Given the description of an element on the screen output the (x, y) to click on. 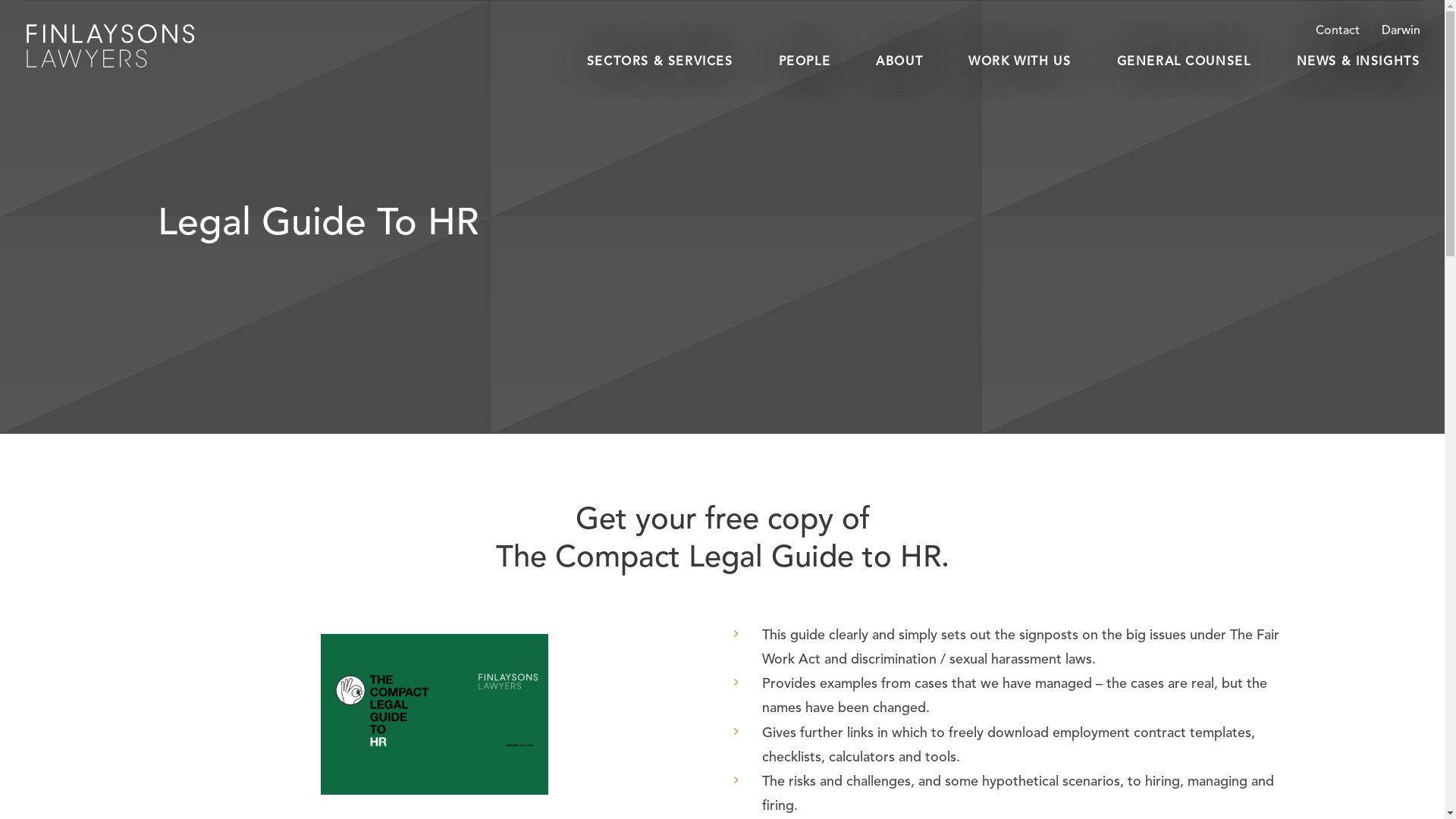
Skip to content Element type: text (722, 17)
Contact Element type: text (1345, 31)
GENERAL COUNSEL Element type: text (1183, 62)
Darwin Element type: text (1400, 31)
WORK WITH US Element type: text (1019, 62)
PEOPLE Element type: text (804, 62)
NEWS & INSIGHTS Element type: text (1358, 62)
ABOUT Element type: text (898, 62)
SECTORS & SERVICES Element type: text (659, 62)
